Given the description of an element on the screen output the (x, y) to click on. 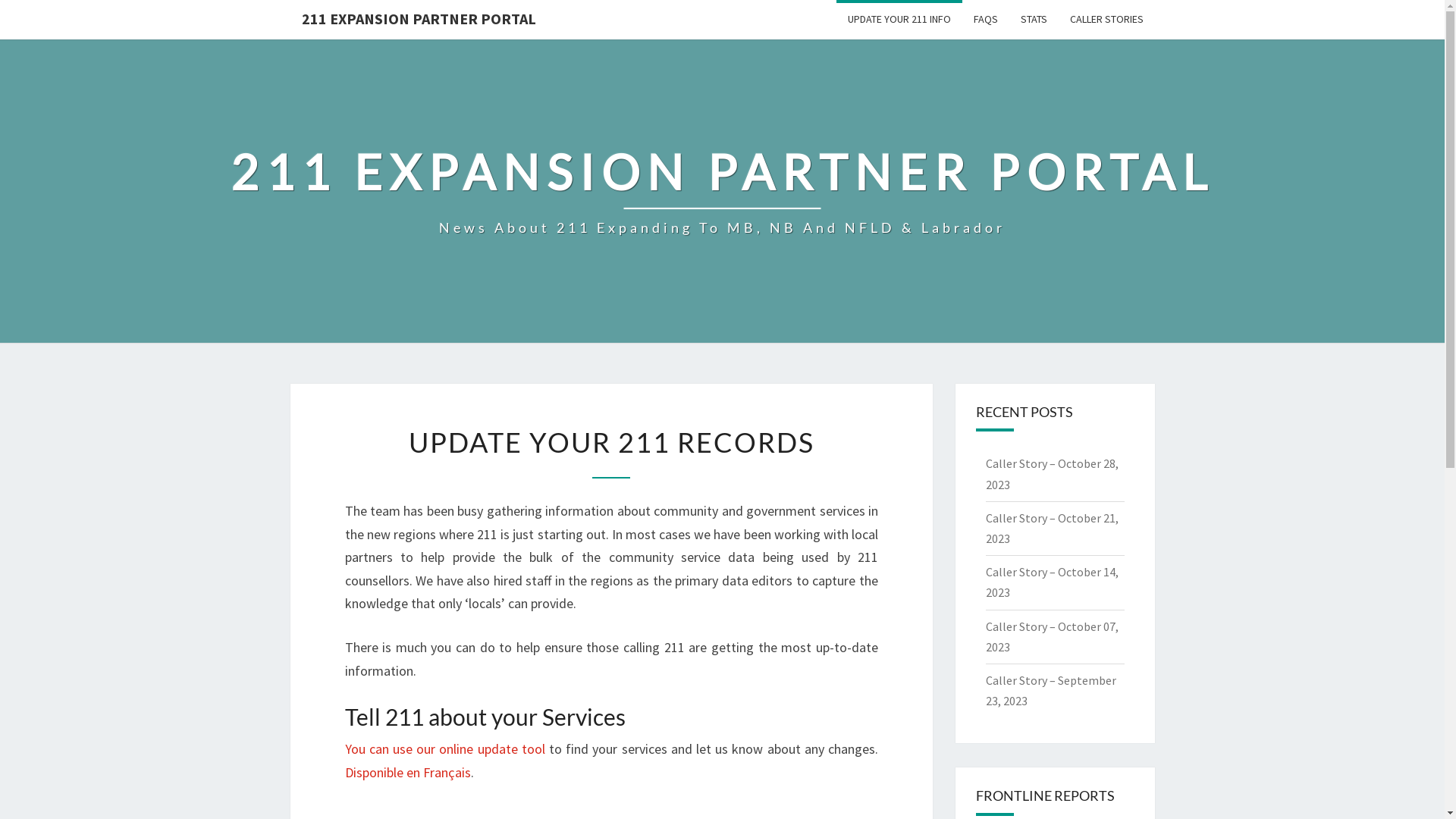
Disponible en F Element type: text (386, 772)
FAQS Element type: text (984, 19)
You can use our online update tool Element type: text (444, 748)
STATS Element type: text (1032, 19)
UPDATE YOUR 211 INFO Element type: text (898, 19)
CALLER STORIES Element type: text (1106, 19)
r Element type: text (431, 772)
211 EXPANSION PARTNER PORTAL Element type: text (417, 18)
